Given the description of an element on the screen output the (x, y) to click on. 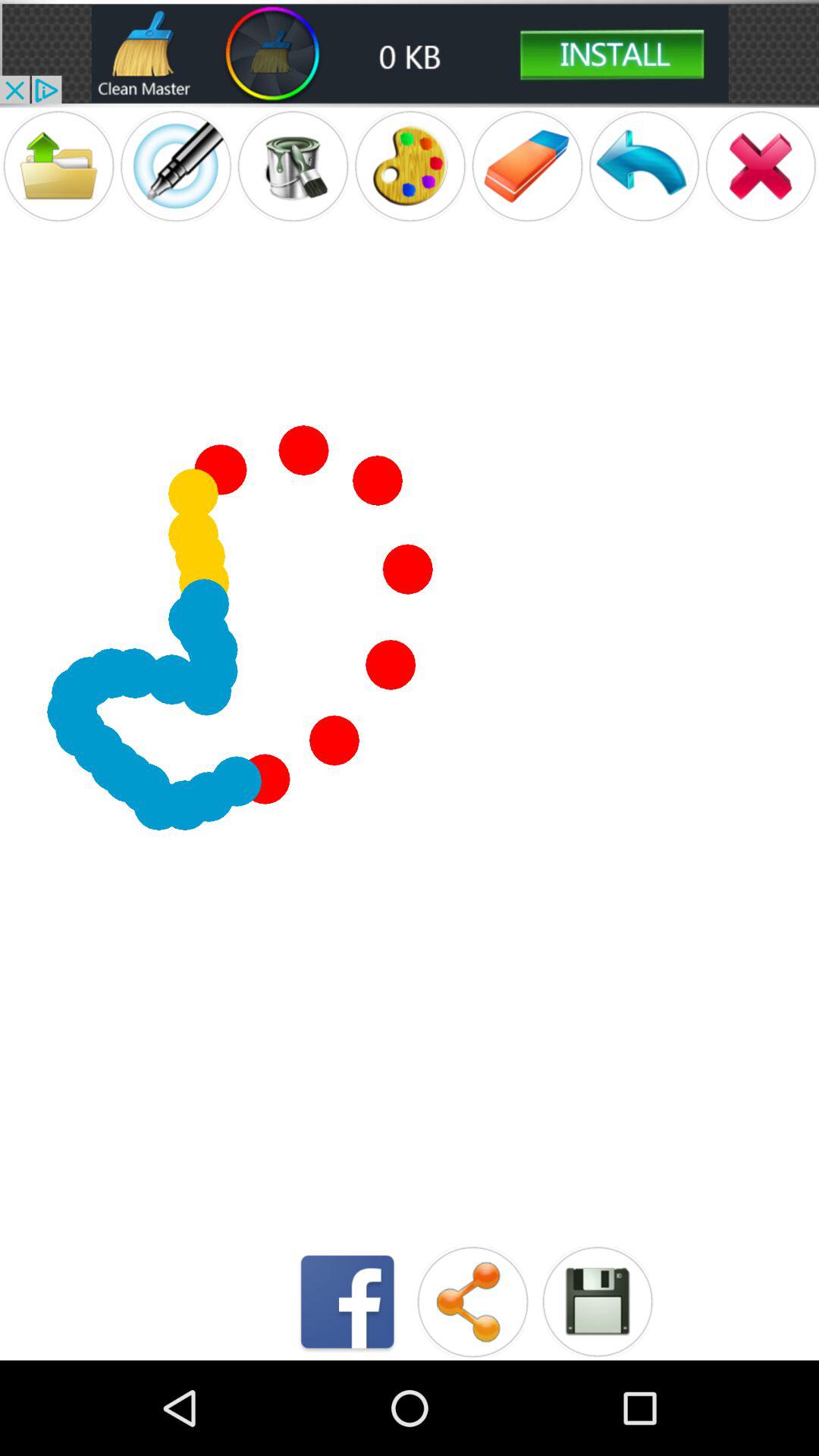
facebook (347, 1301)
